Given the description of an element on the screen output the (x, y) to click on. 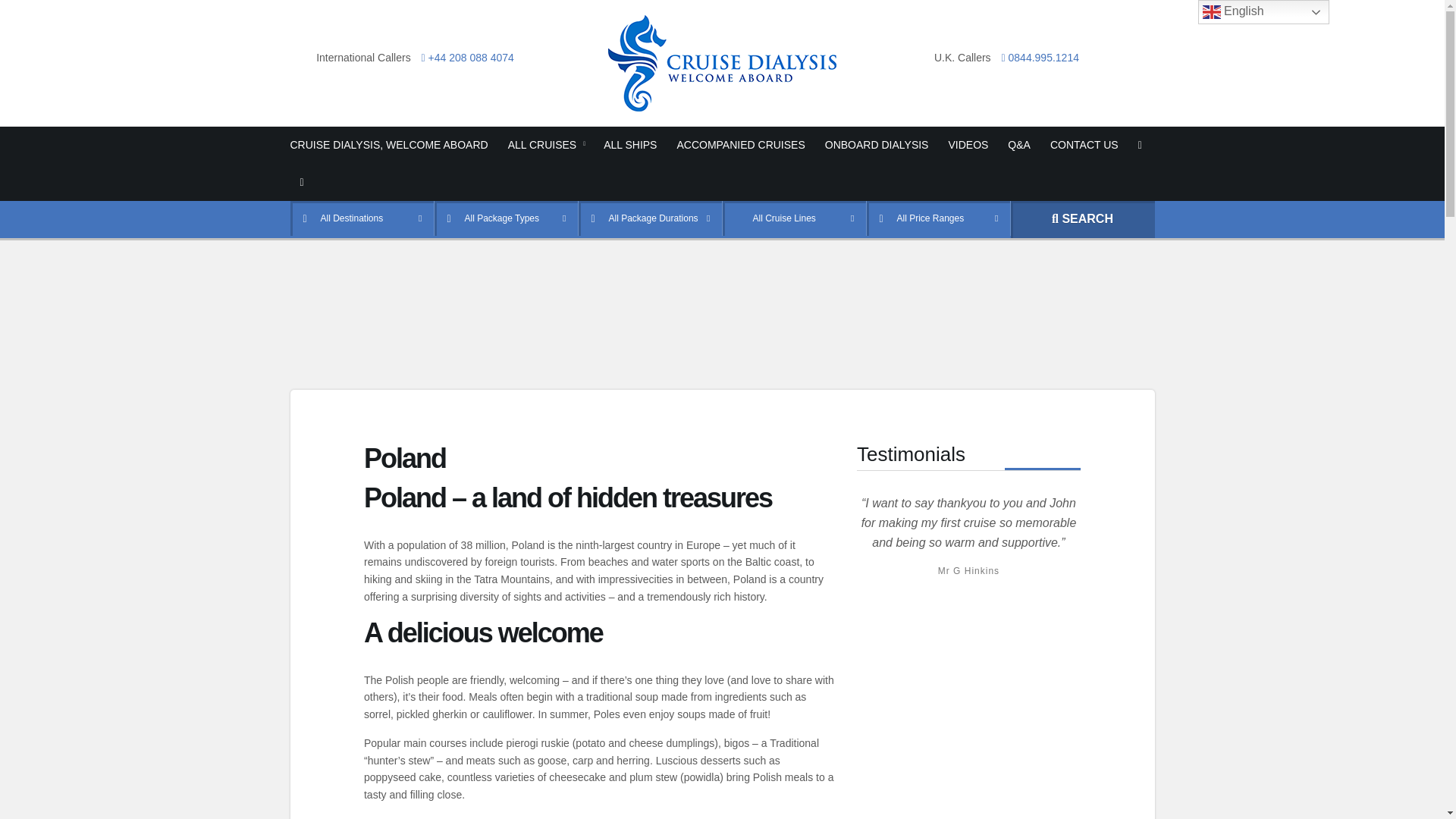
CONTACT US (1084, 144)
ACCOMPANIED CRUISES (739, 144)
0844.995.1214 (1036, 57)
ALL CRUISES (545, 144)
All Destinations (361, 217)
CRUISE DIALYSIS, WELCOME ABOARD (393, 144)
VIDEOS (967, 144)
ONBOARD DIALYSIS (877, 144)
ALL SHIPS (630, 144)
